Given the description of an element on the screen output the (x, y) to click on. 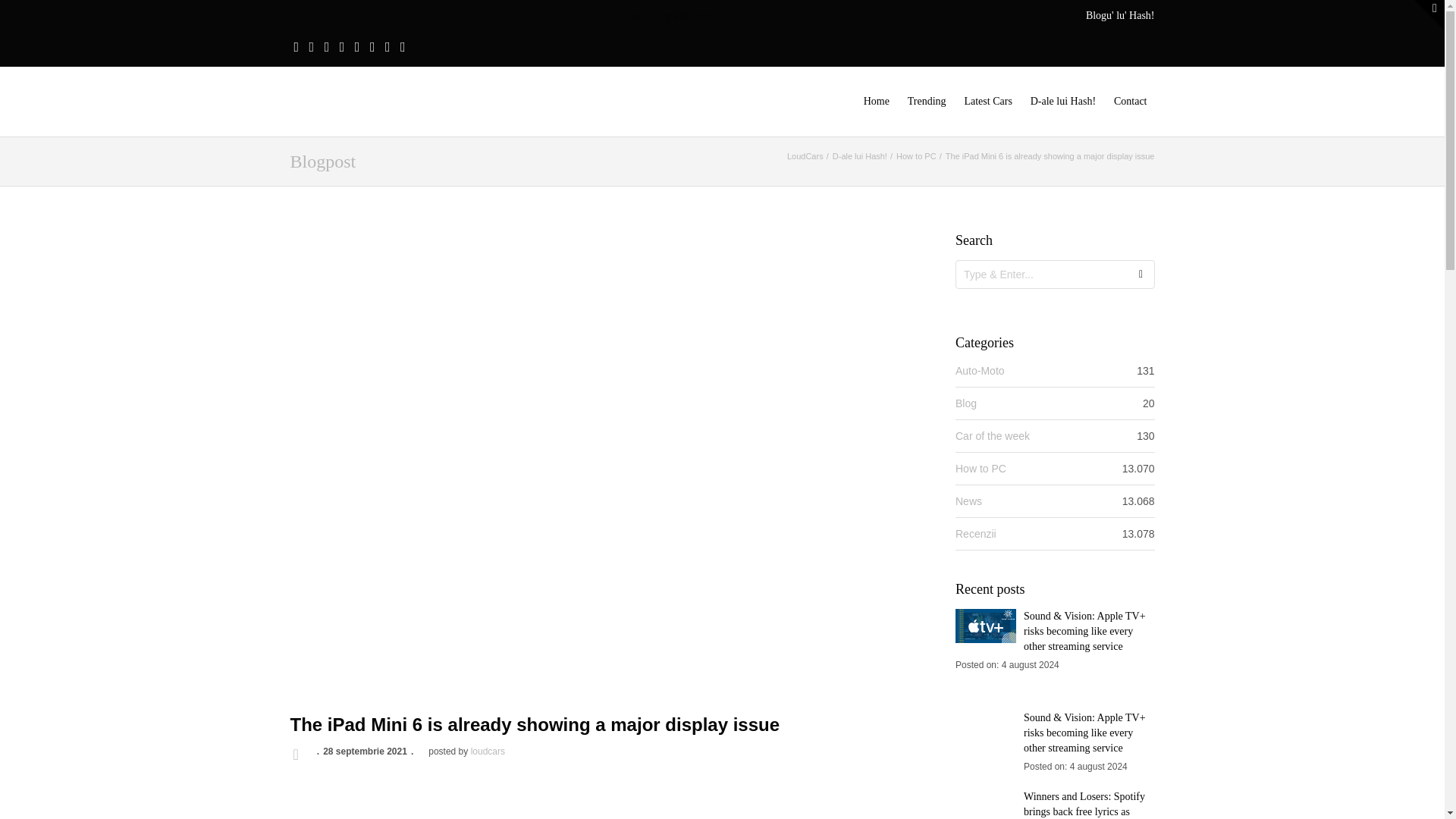
loudcars (487, 751)
How to PC (916, 155)
Contact (1130, 101)
Trending (926, 101)
Home (876, 101)
D-ale lui Hash! (859, 155)
LoudCars (805, 155)
Latest Cars (987, 101)
D-ale lui Hash! (1063, 101)
